Given the description of an element on the screen output the (x, y) to click on. 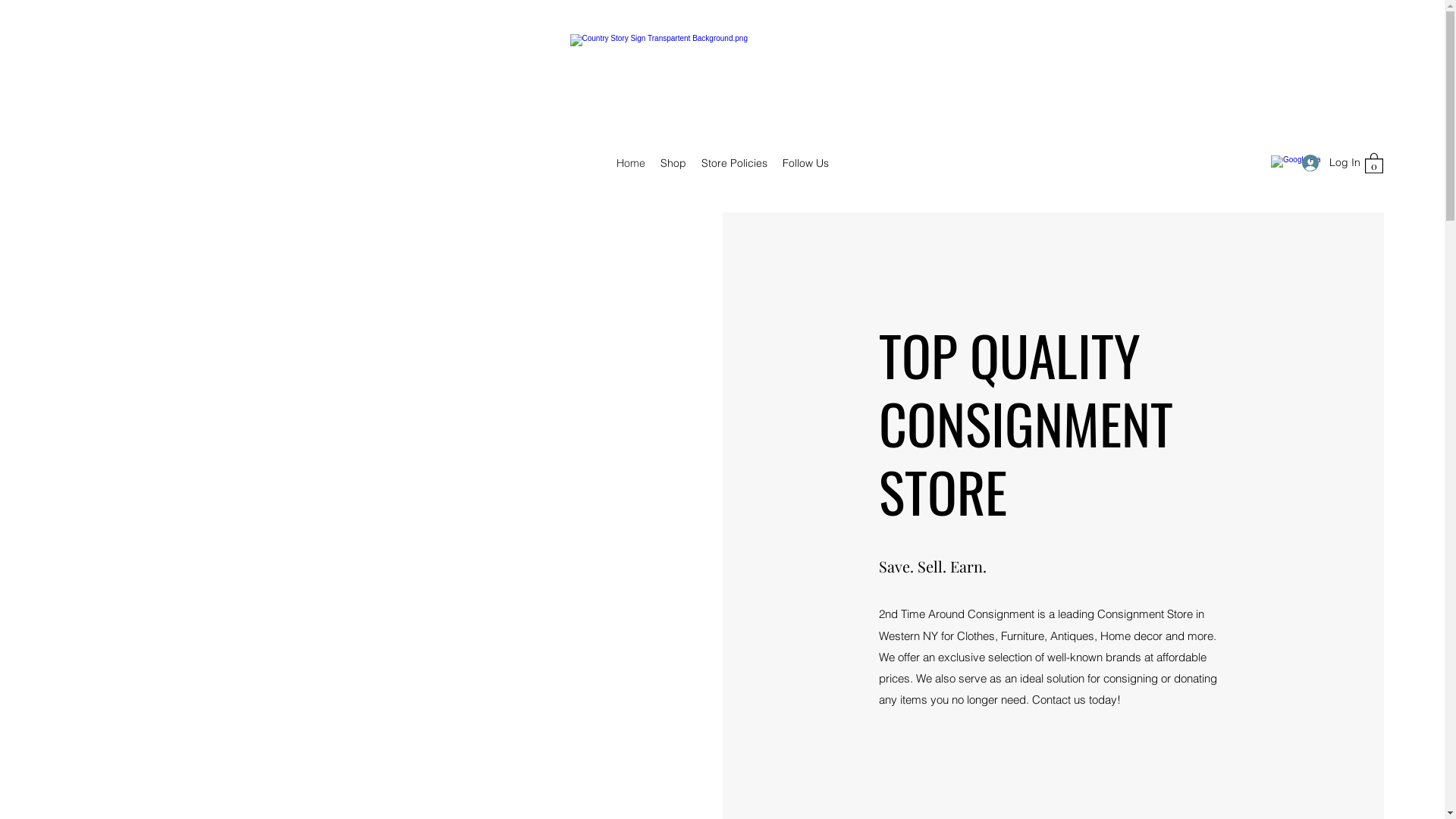
Shop Element type: text (672, 162)
Log In Element type: text (1325, 162)
0 Element type: text (1374, 162)
Follow Us Element type: text (805, 162)
Store Policies Element type: text (733, 162)
Home Element type: text (630, 162)
